Given the description of an element on the screen output the (x, y) to click on. 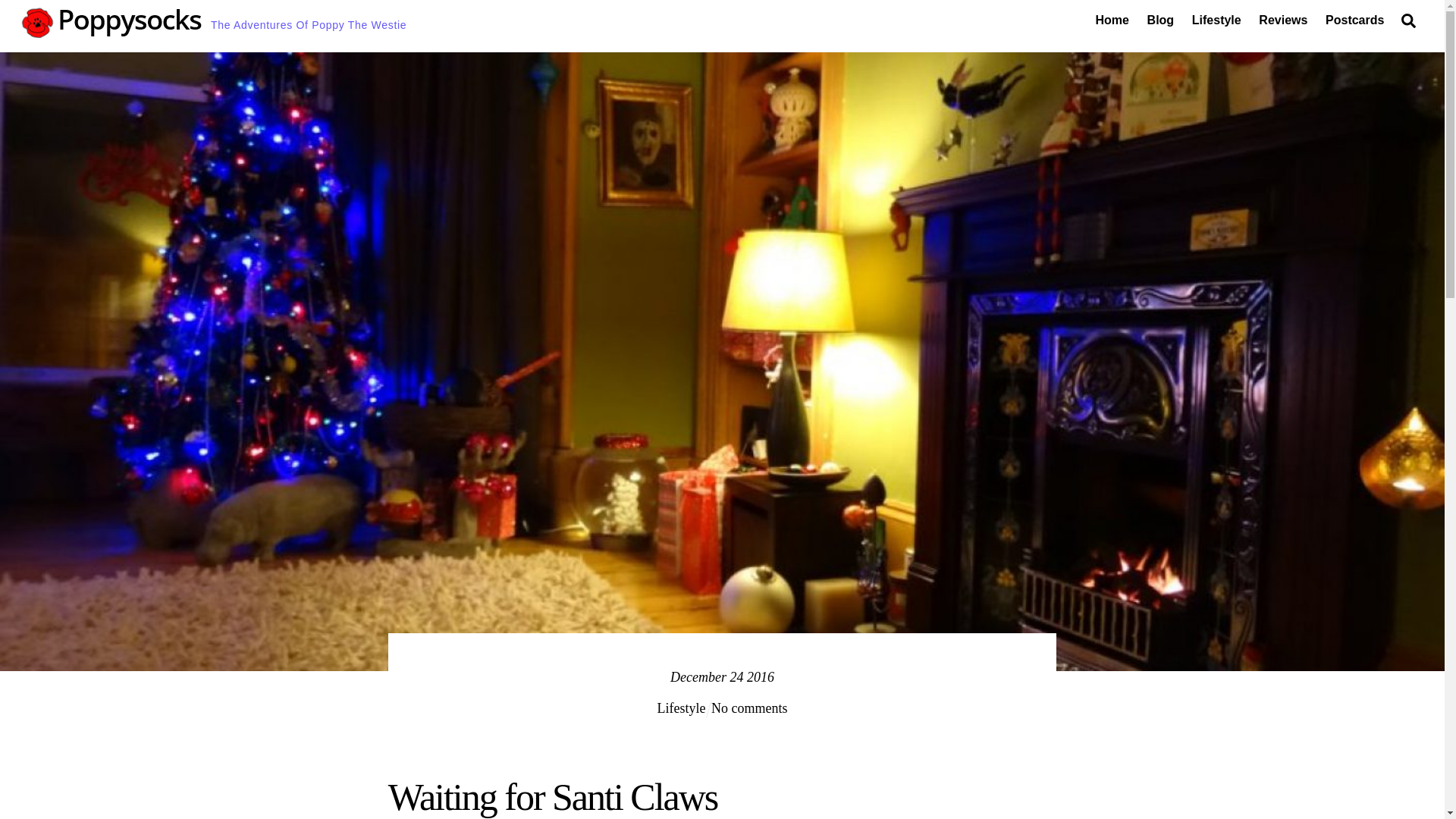
No comments (749, 708)
Search (1408, 19)
Postcards (1354, 20)
Home (1112, 20)
Blog (1160, 20)
Lifestyle (1216, 20)
Poppysocks (112, 30)
Reviews (1283, 20)
Lifestyle (682, 708)
